Given the description of an element on the screen output the (x, y) to click on. 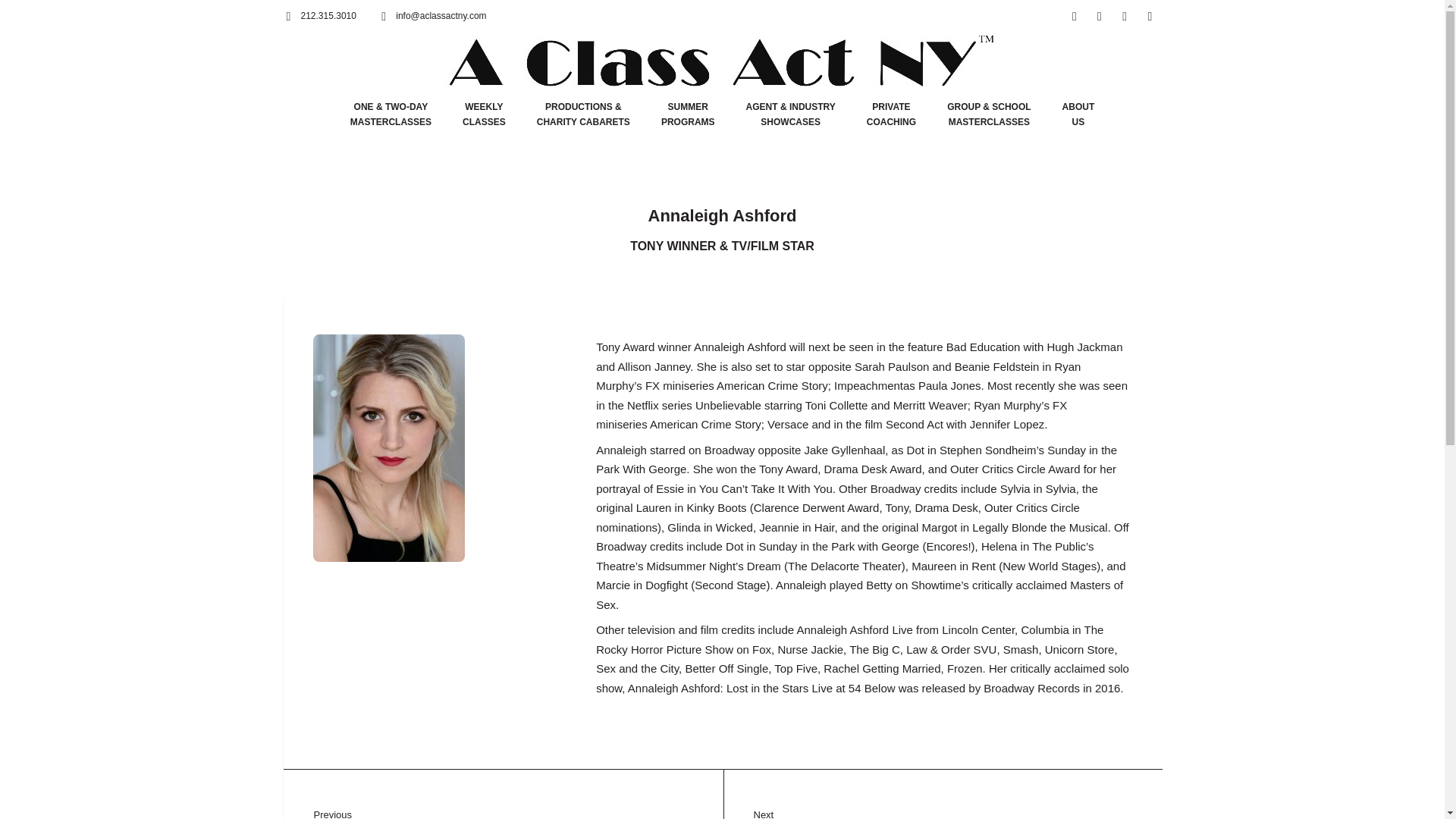
Instagram (1099, 16)
Twitter (484, 113)
Facebook (890, 113)
YouTube (1078, 113)
212.315.3010 (1124, 16)
